Given the description of an element on the screen output the (x, y) to click on. 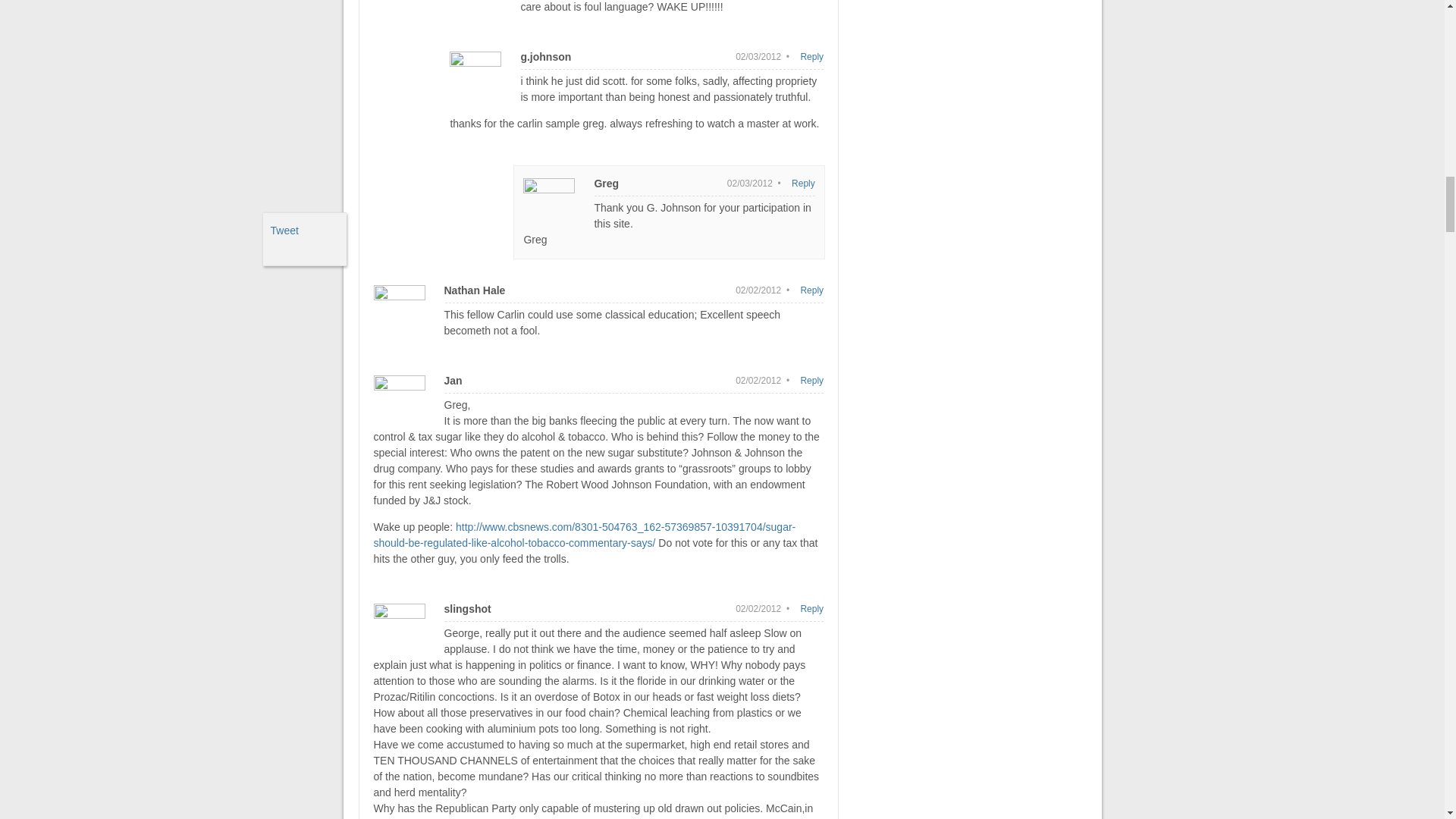
Reply (803, 183)
Reply (811, 289)
Reply (811, 56)
